Given the description of an element on the screen output the (x, y) to click on. 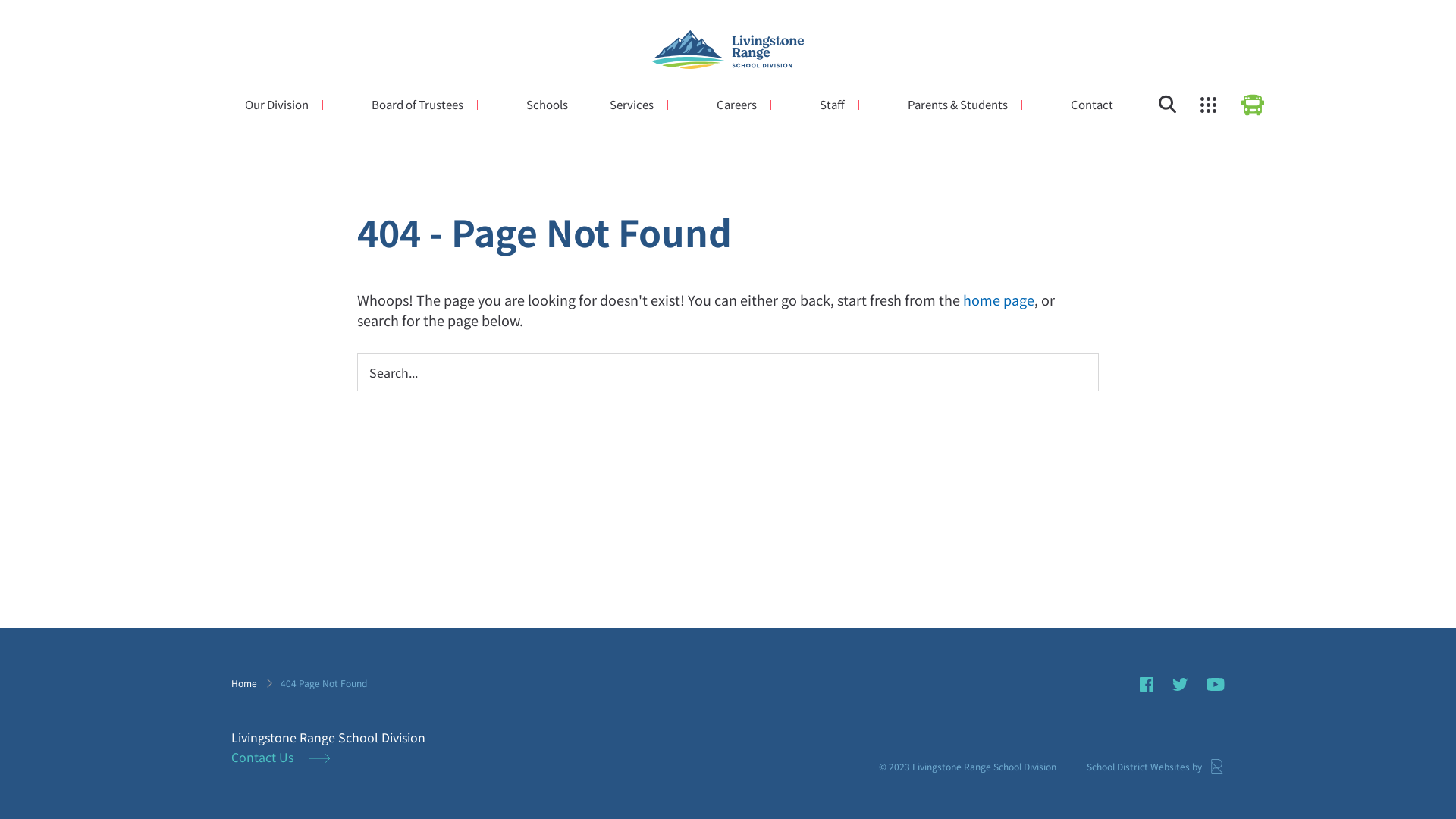
Facebook Element type: hover (1146, 683)
Quicklinks Element type: text (1208, 104)
Youtube Element type: hover (1215, 683)
Our Division Element type: text (276, 104)
Home Element type: text (244, 682)
Schools Element type: text (546, 104)
home page Element type: text (998, 299)
Contact Us Element type: text (280, 756)
Staff Element type: text (831, 104)
Livingstone Range School Division Element type: hover (727, 51)
Parents & Students Element type: text (957, 104)
Board of Trustees Element type: text (417, 104)
School District Websites by Element type: text (1155, 766)
Search Element type: text (1167, 103)
Twitter Element type: hover (1179, 683)
Contact Element type: text (1091, 104)
Services Element type: text (631, 104)
Careers Element type: text (736, 104)
Bus Status Element type: hover (1252, 105)
